Given the description of an element on the screen output the (x, y) to click on. 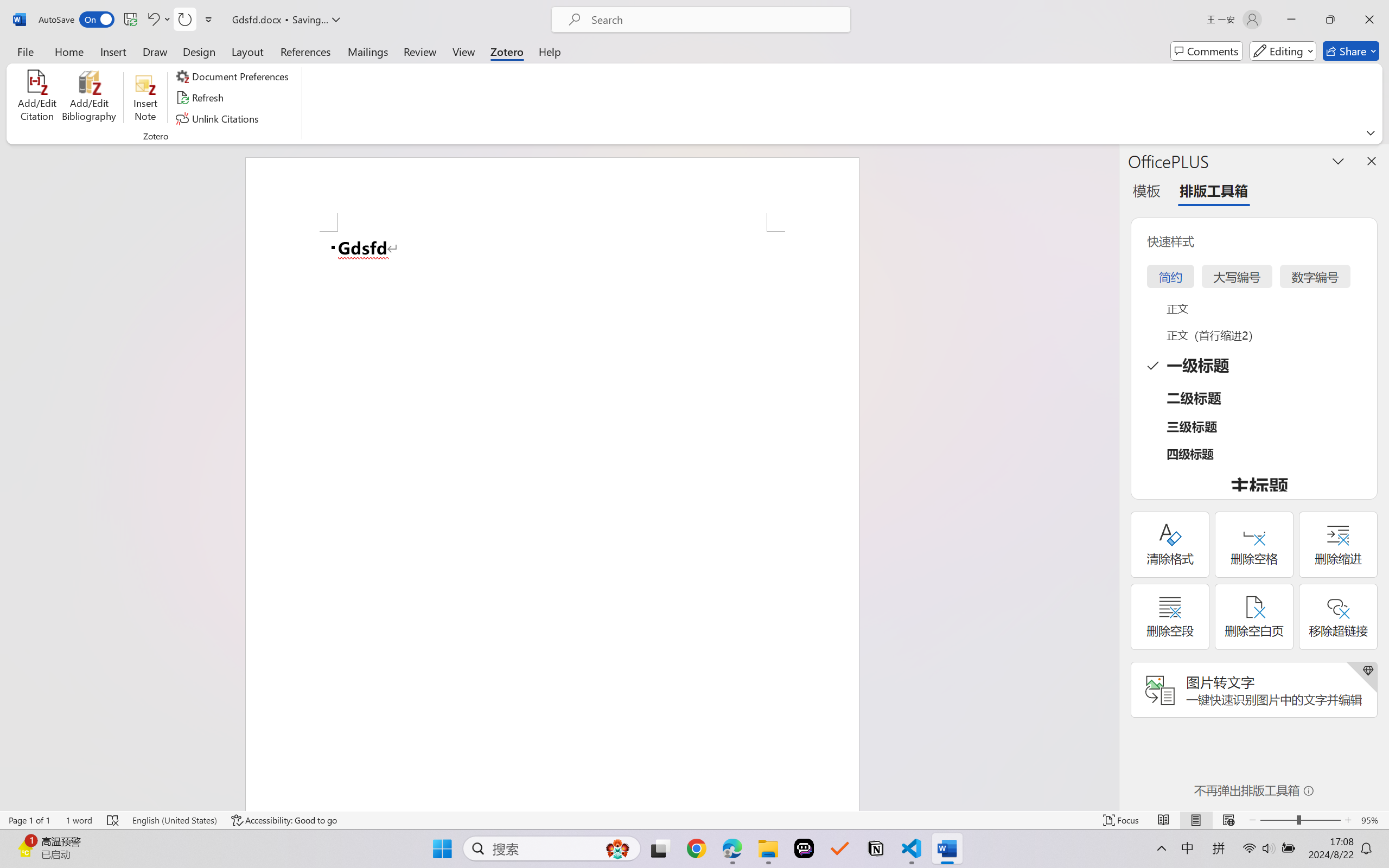
Add/Edit Citation (37, 97)
Microsoft search (715, 19)
Repeat Style (184, 19)
Refresh (201, 97)
Add/Edit Bibliography (88, 97)
